Given the description of an element on the screen output the (x, y) to click on. 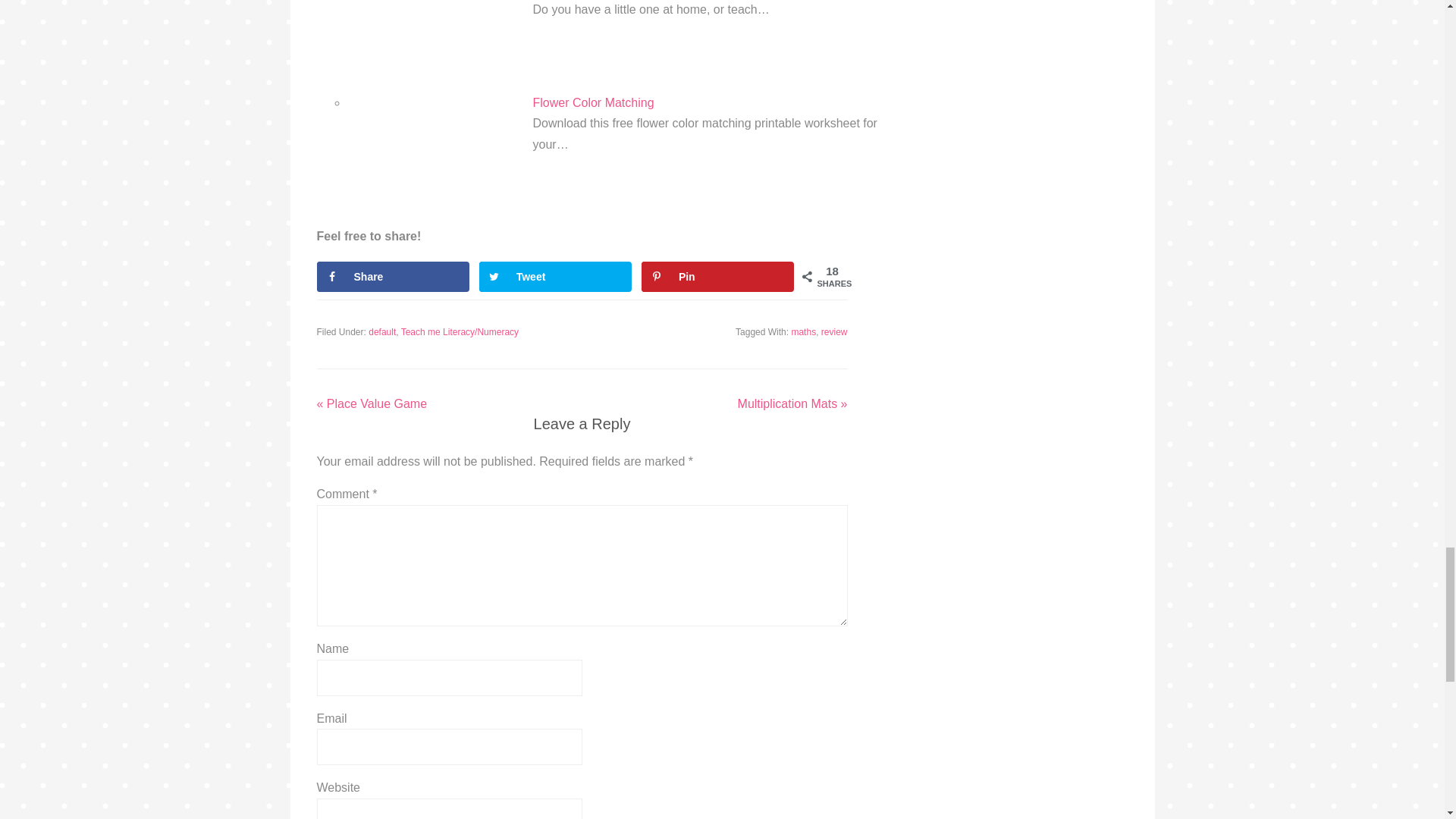
Share on Twitter (555, 276)
default (382, 331)
Share (393, 276)
Flower Color Matching (592, 102)
Pin (718, 276)
Save to Pinterest (718, 276)
Tweet (555, 276)
Share on Facebook (393, 276)
